Given the description of an element on the screen output the (x, y) to click on. 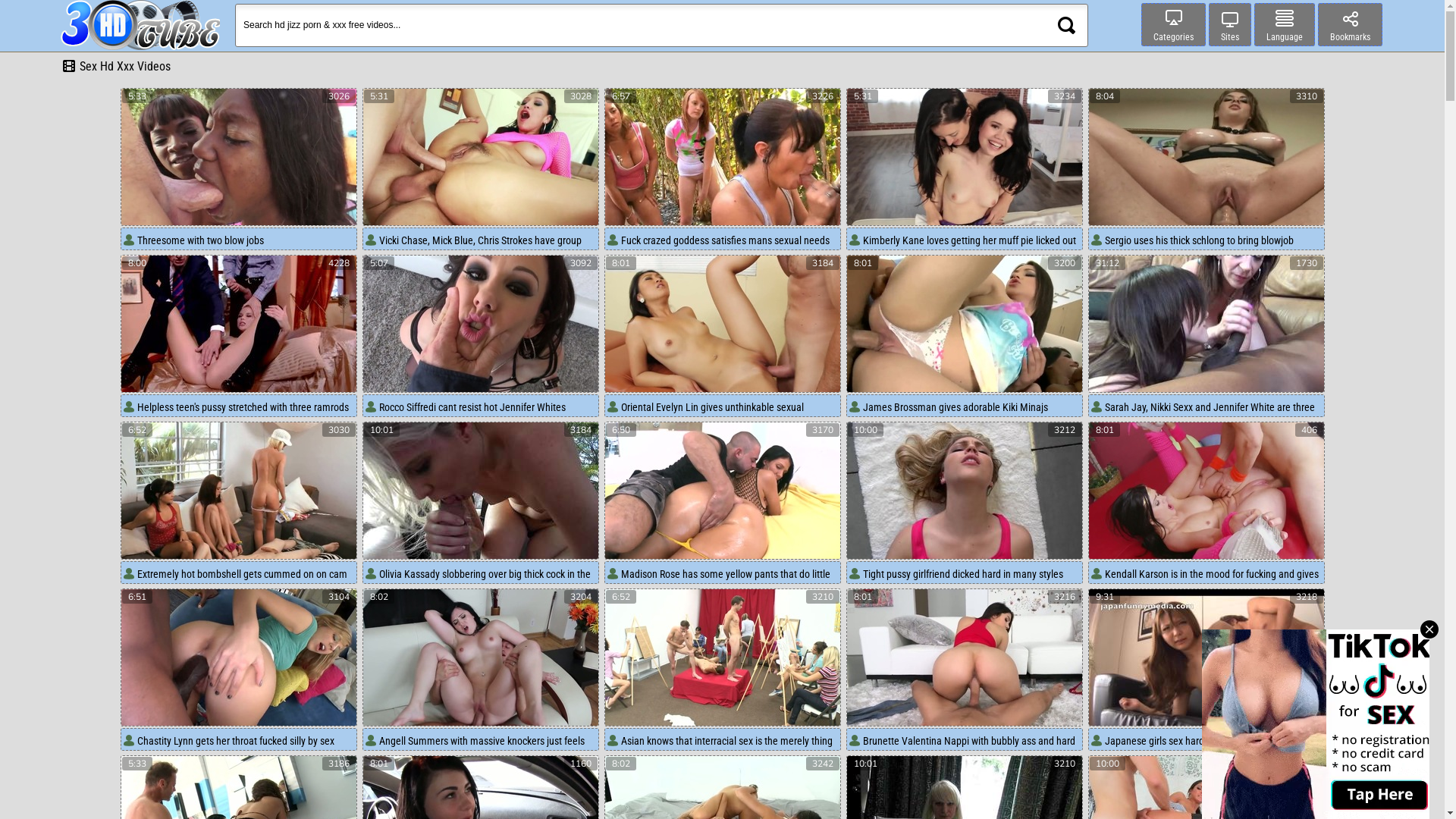
Sites Element type: text (1229, 24)
Bookmarks Element type: text (1349, 24)
search Element type: text (1066, 25)
Categories Element type: text (1173, 24)
Search Element type: hover (1066, 25)
Language Element type: text (1284, 24)
